Given the description of an element on the screen output the (x, y) to click on. 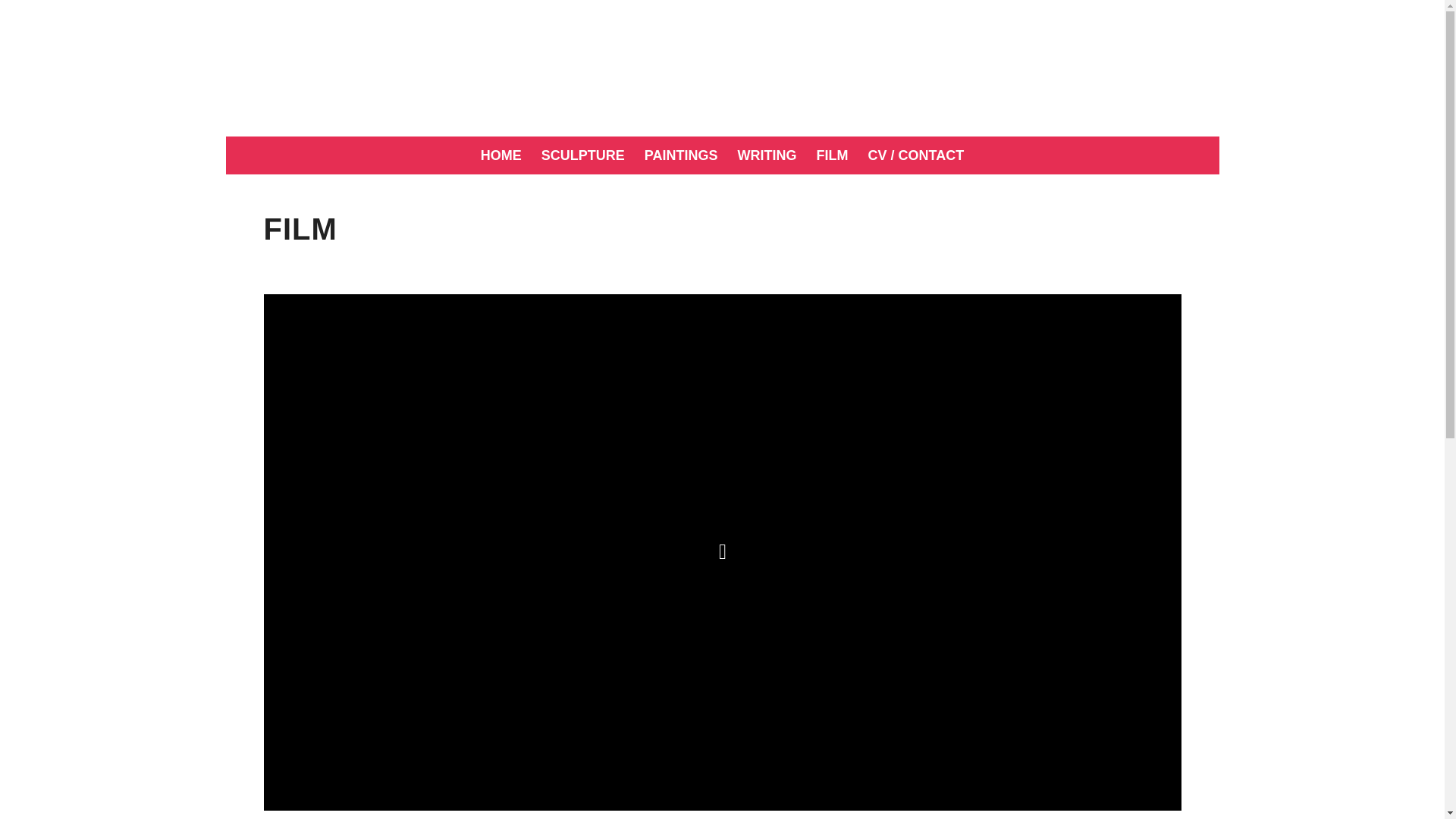
SCULPTURE (582, 155)
PAINTINGS (681, 155)
HOME (500, 155)
logo3-01 (721, 68)
FILM (832, 155)
WRITING (767, 155)
